Given the description of an element on the screen output the (x, y) to click on. 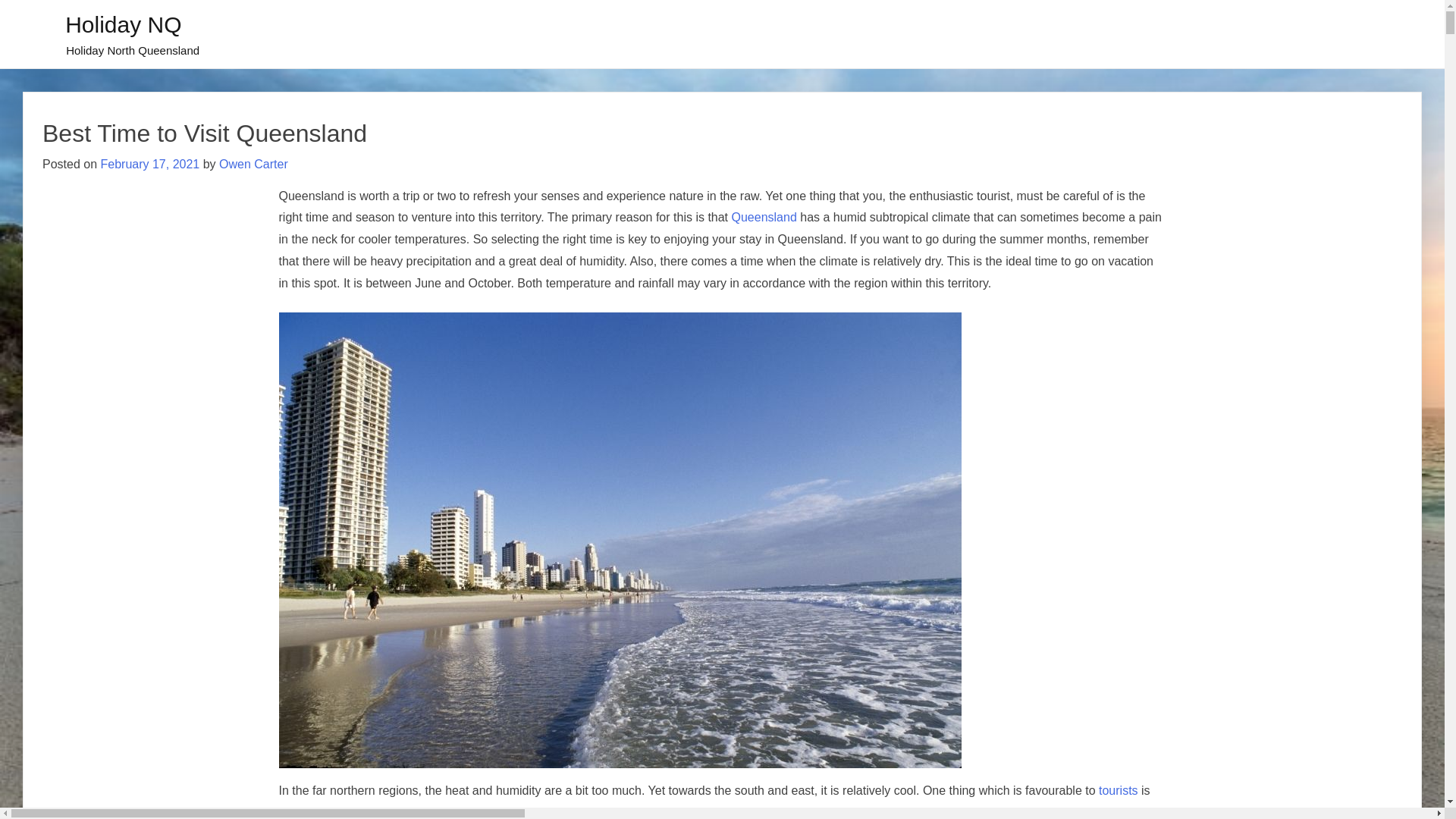
Queensland Element type: text (764, 216)
Holiday NQ Element type: text (123, 24)
Owen Carter Element type: text (253, 163)
tourists Element type: text (1118, 790)
February 17, 2021 Element type: text (149, 163)
